Given the description of an element on the screen output the (x, y) to click on. 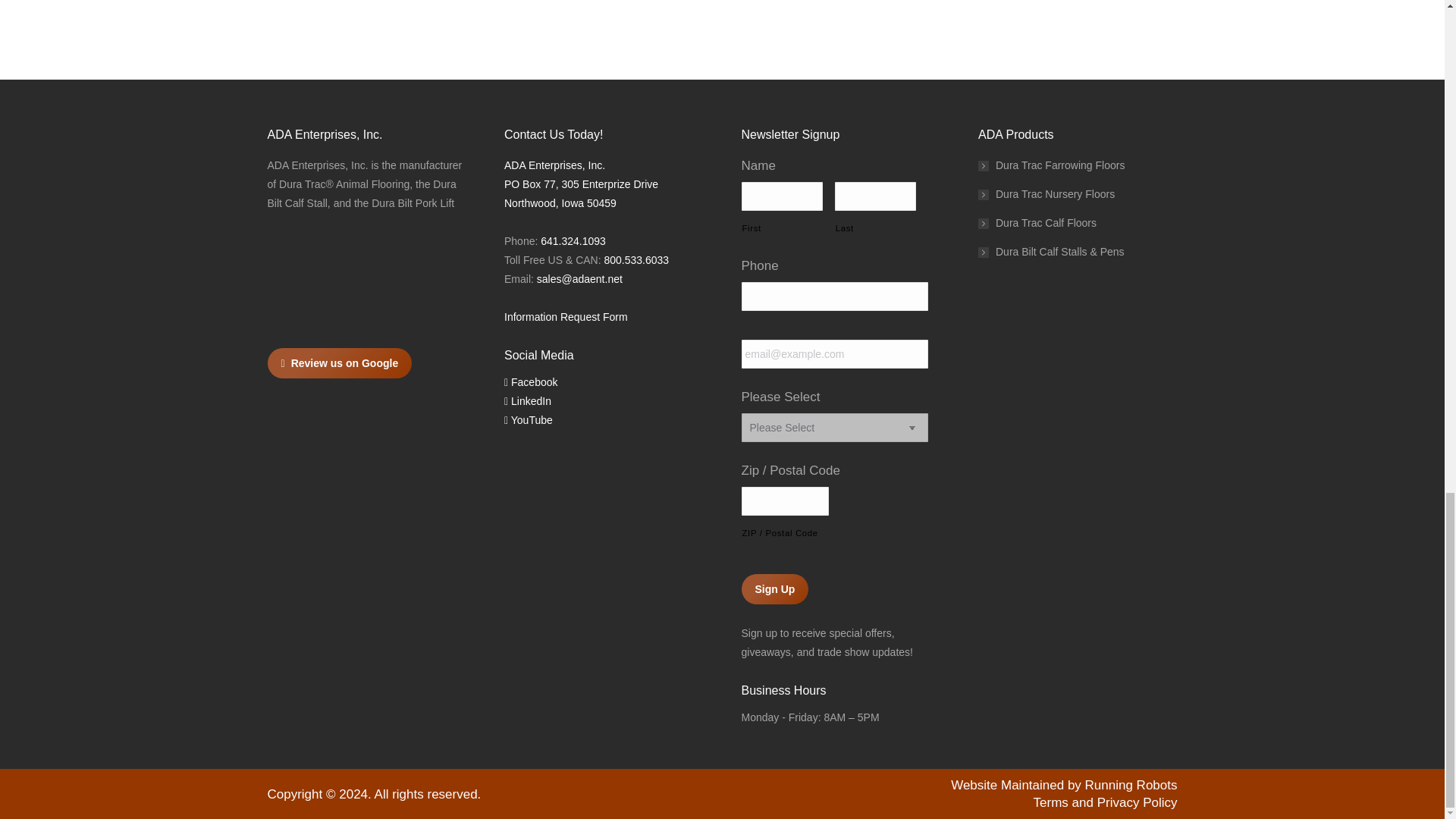
Sign Up (775, 589)
